Given the description of an element on the screen output the (x, y) to click on. 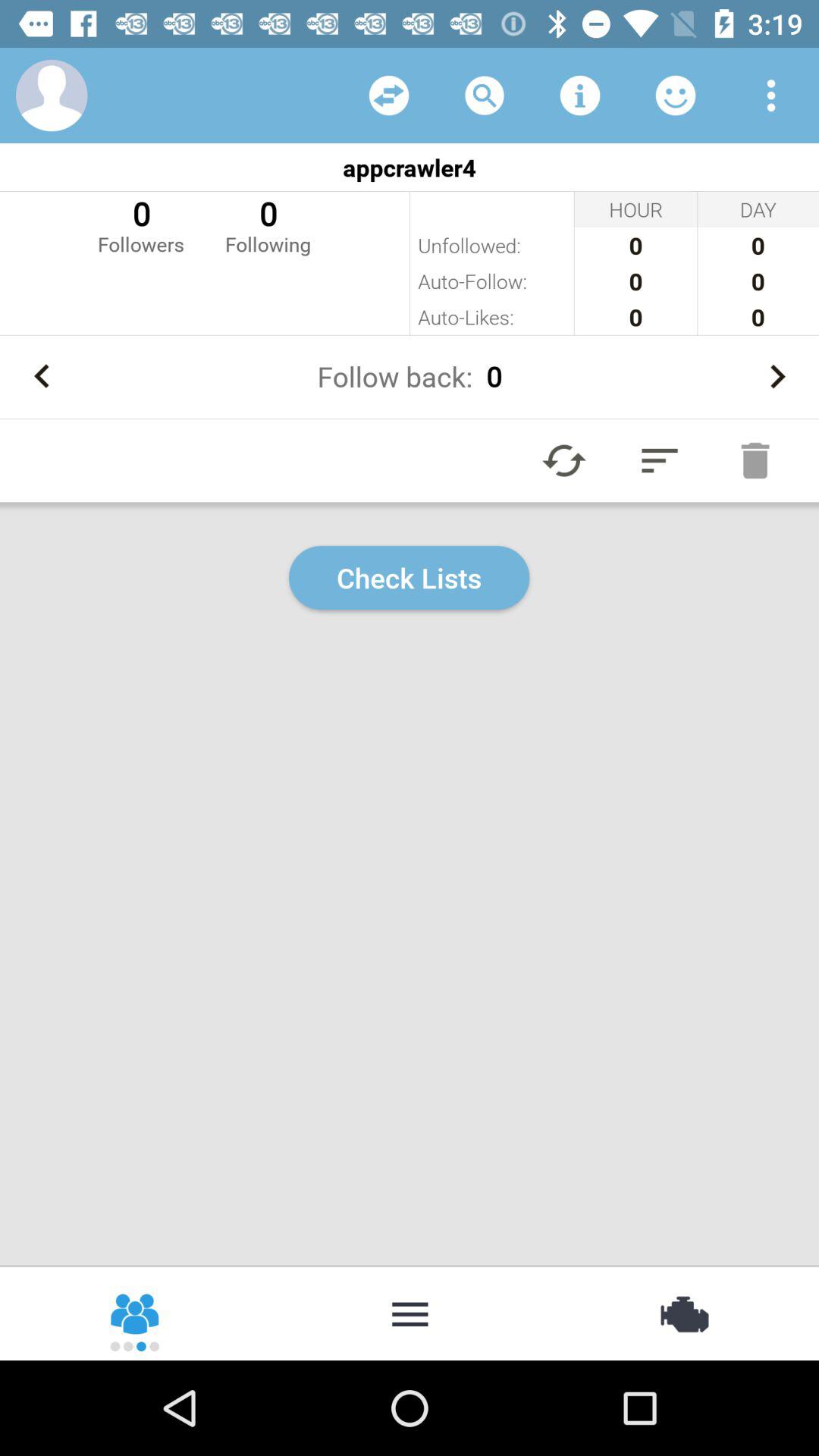
click icon next to follow back:  0 icon (777, 376)
